Given the description of an element on the screen output the (x, y) to click on. 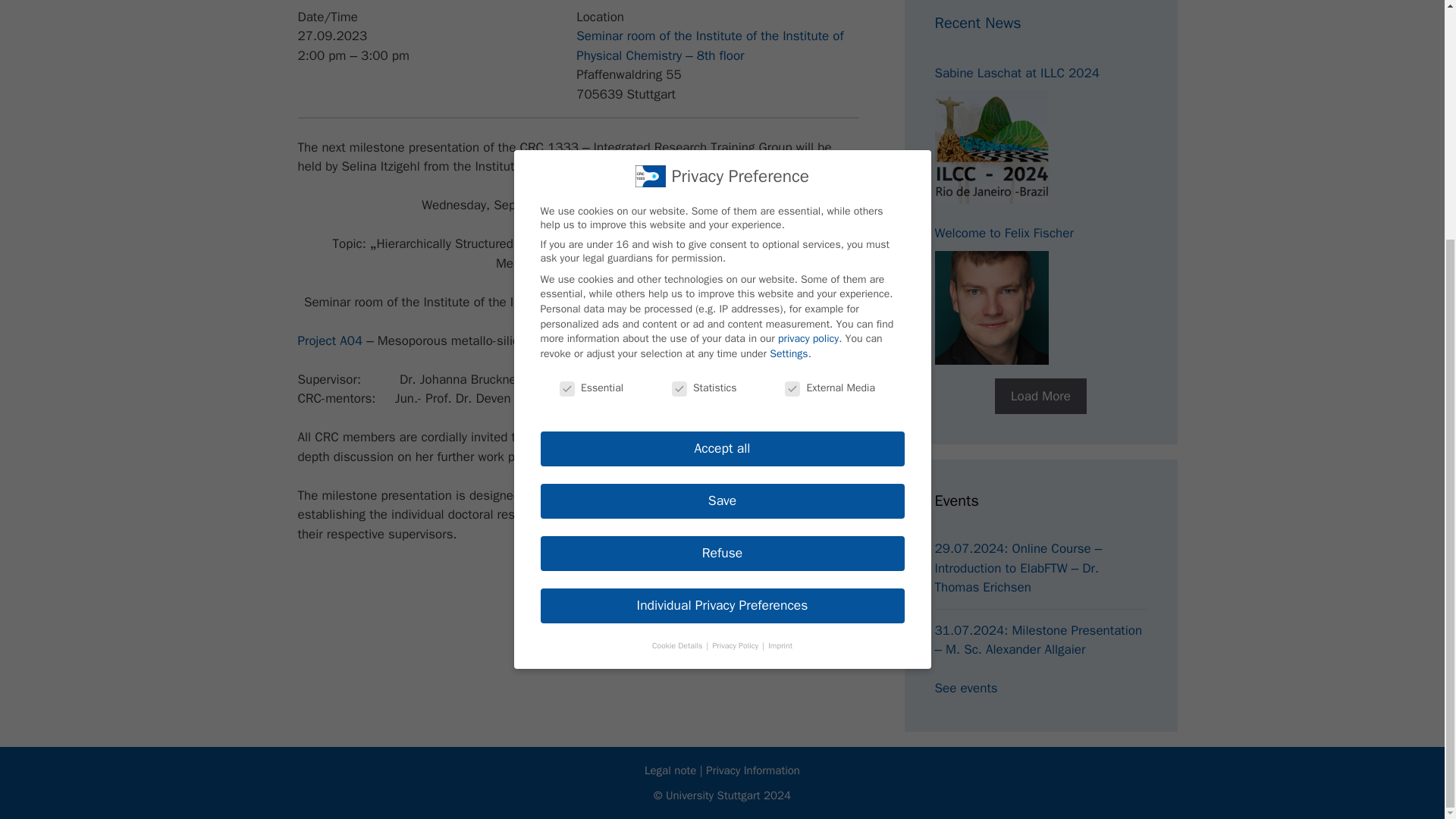
Sabine Laschat at ILLC 2024 (991, 146)
See upcoming events (965, 688)
Welcome to Felix Fischer (991, 307)
